Given the description of an element on the screen output the (x, y) to click on. 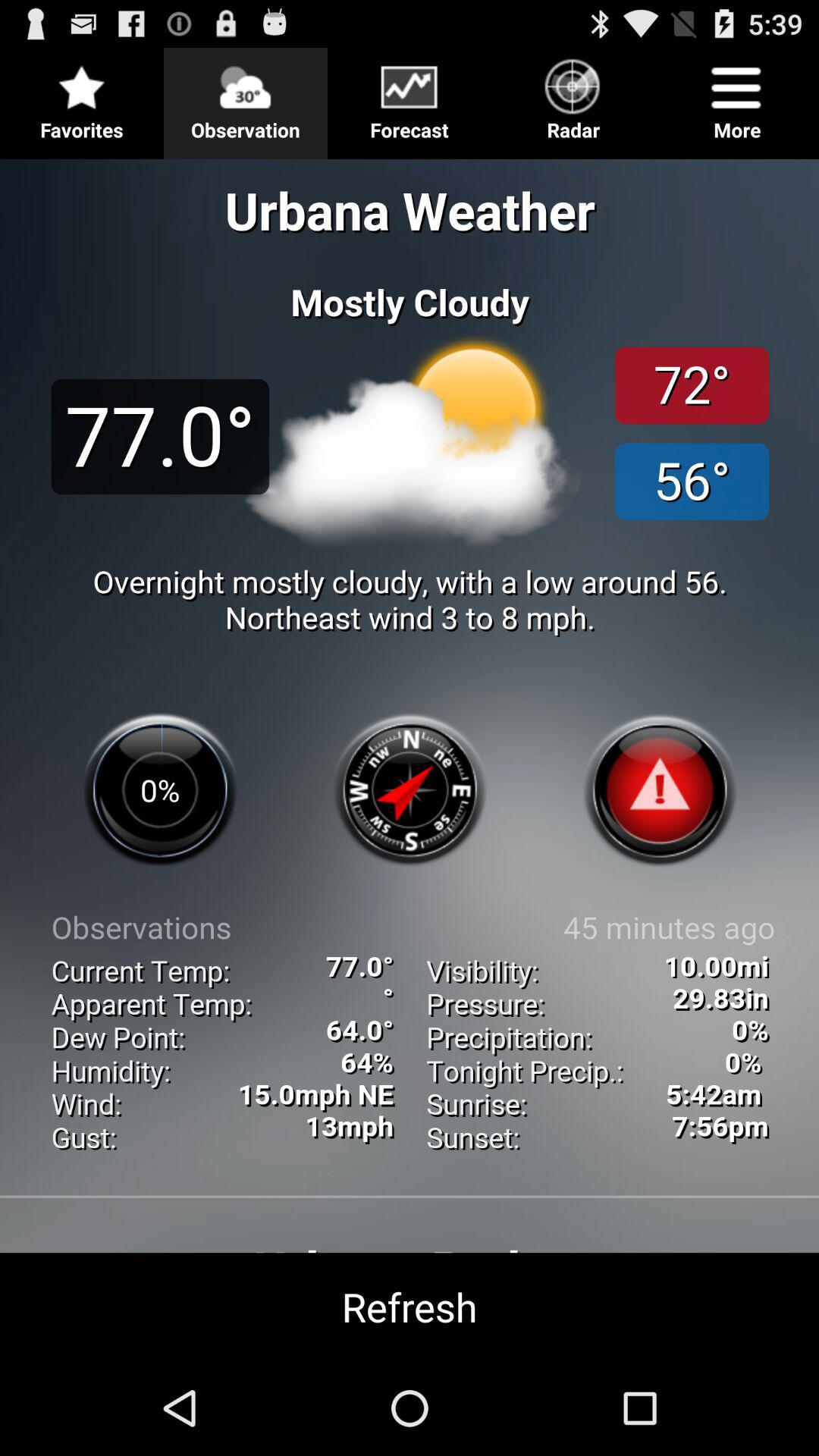
select the entire article (409, 753)
